Given the description of an element on the screen output the (x, y) to click on. 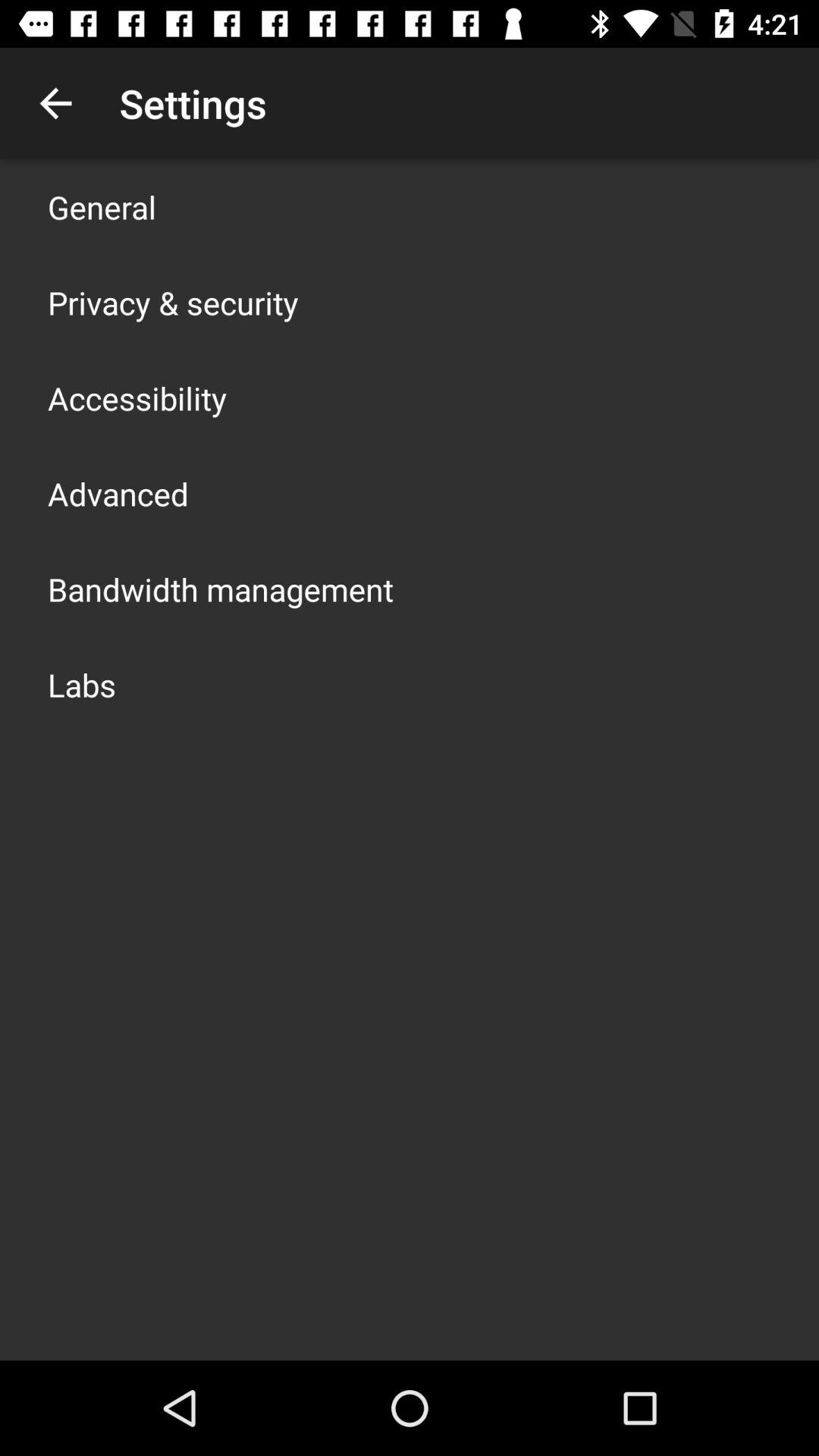
flip until bandwidth management (220, 588)
